Given the description of an element on the screen output the (x, y) to click on. 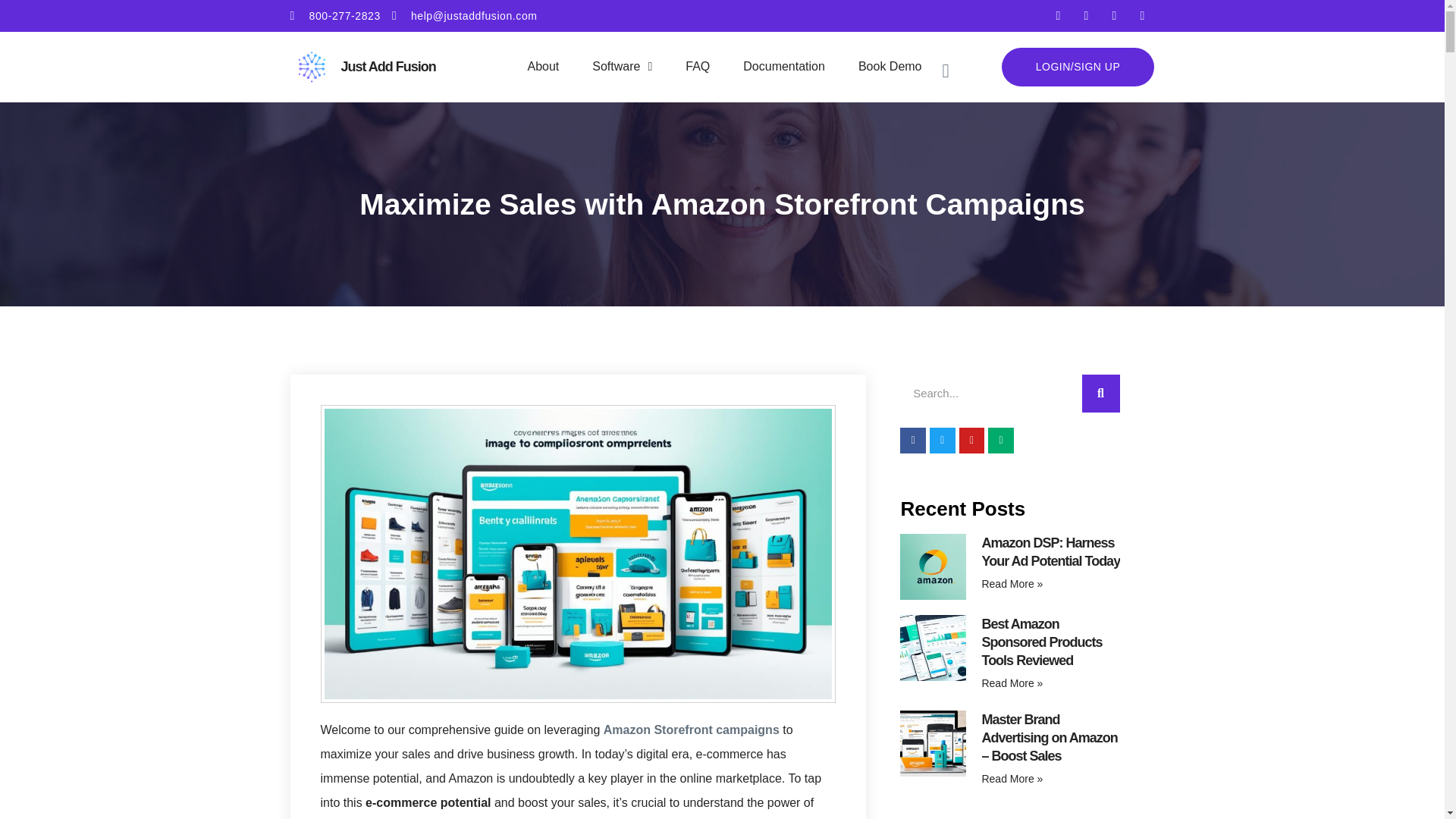
Book Demo (890, 66)
FAQ (697, 66)
Software (621, 66)
Documentation (783, 66)
Just Add Fusion (387, 66)
About (543, 66)
